Given the description of an element on the screen output the (x, y) to click on. 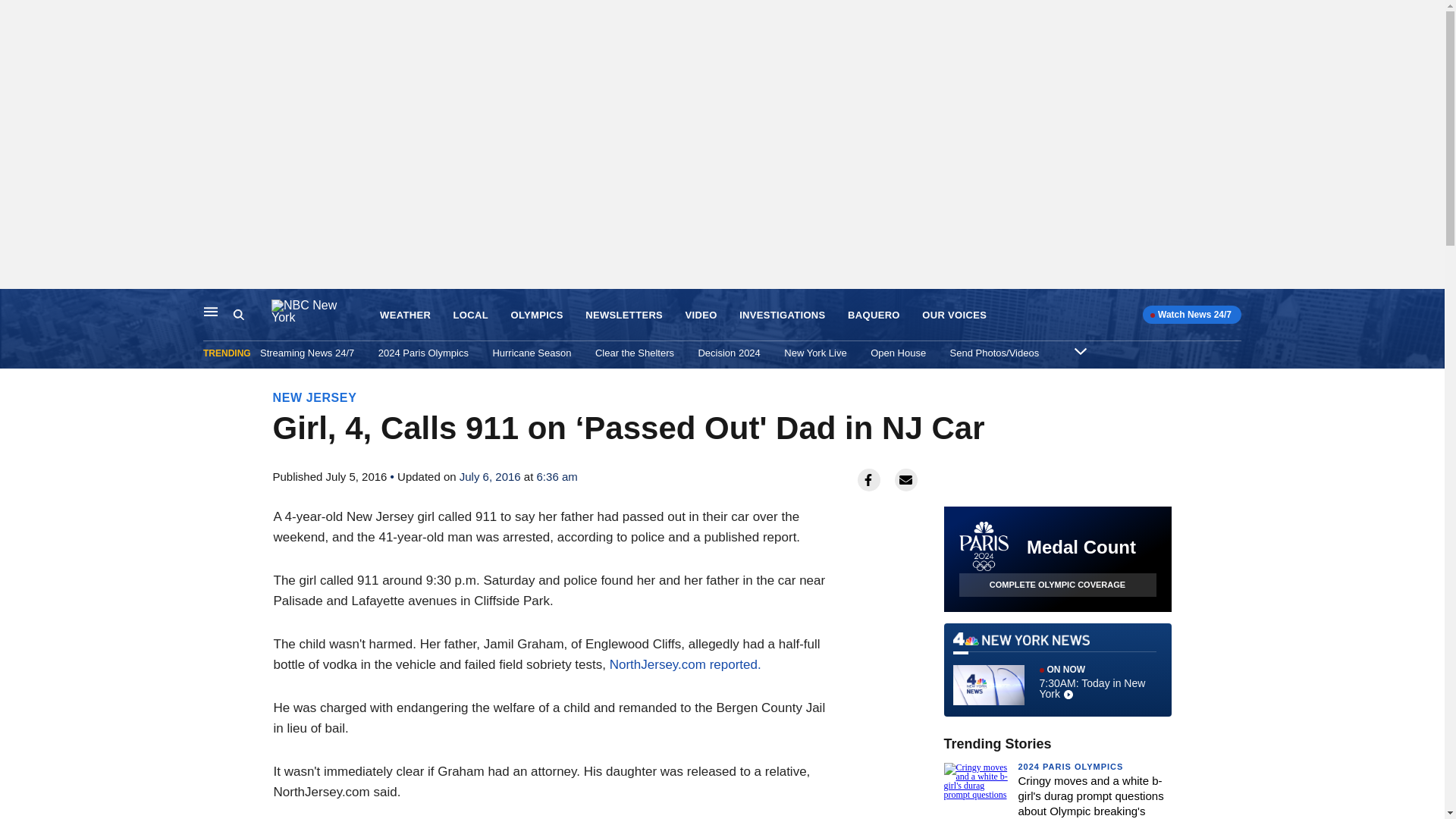
Skip to content (16, 304)
INVESTIGATIONS (782, 315)
2024 Paris Olympics (423, 352)
Clear the Shelters (634, 352)
2024 PARIS OLYMPICS (1069, 766)
Expand (1080, 350)
WEATHER (405, 315)
Search (252, 314)
NEWSLETTERS (623, 315)
